Given the description of an element on the screen output the (x, y) to click on. 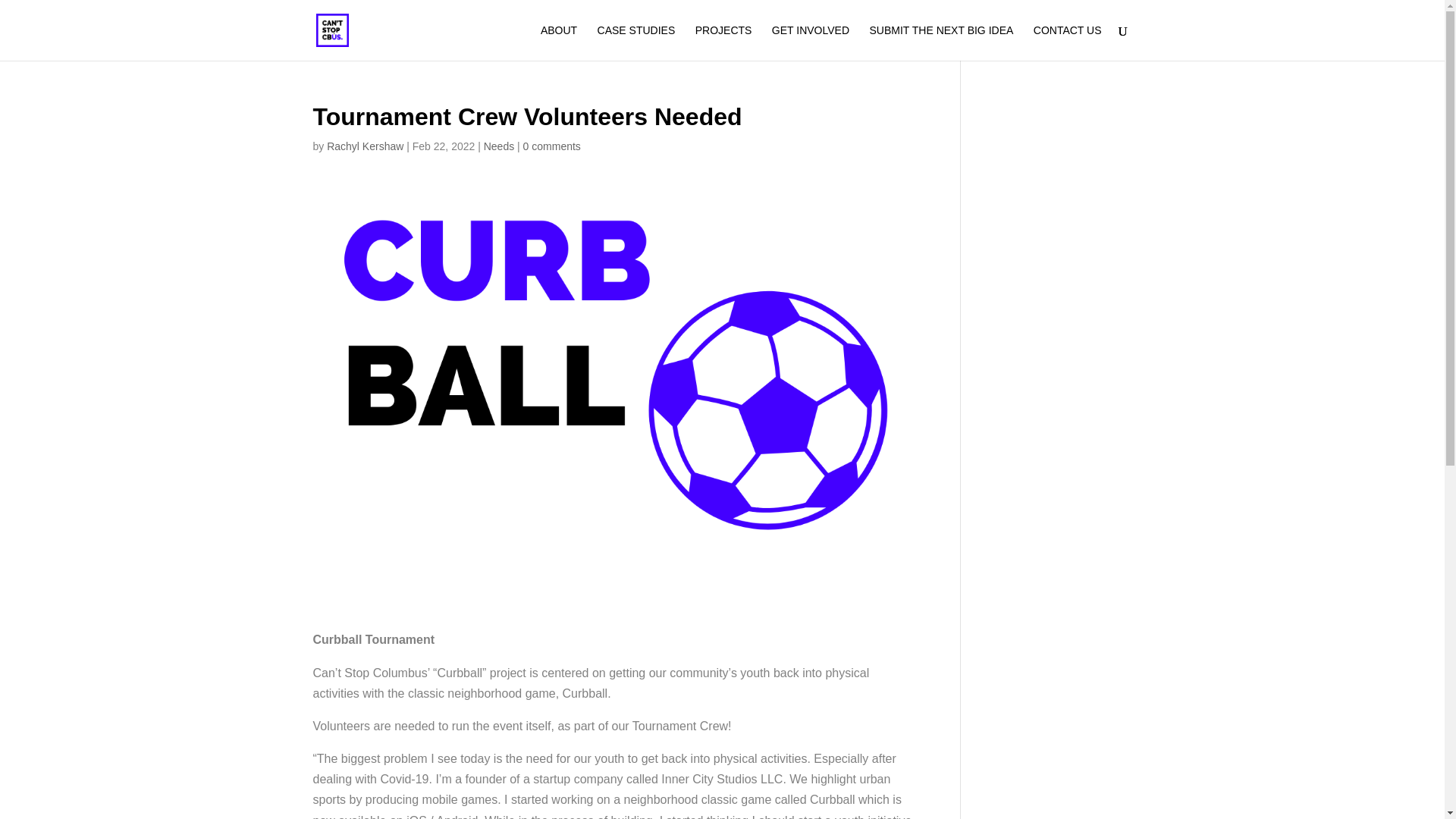
Needs (498, 146)
ABOUT (558, 42)
PROJECTS (723, 42)
Posts by Rachyl Kershaw (364, 146)
Rachyl Kershaw (364, 146)
CASE STUDIES (635, 42)
SUBMIT THE NEXT BIG IDEA (941, 42)
0 comments (551, 146)
CONTACT US (1067, 42)
GET INVOLVED (809, 42)
